Given the description of an element on the screen output the (x, y) to click on. 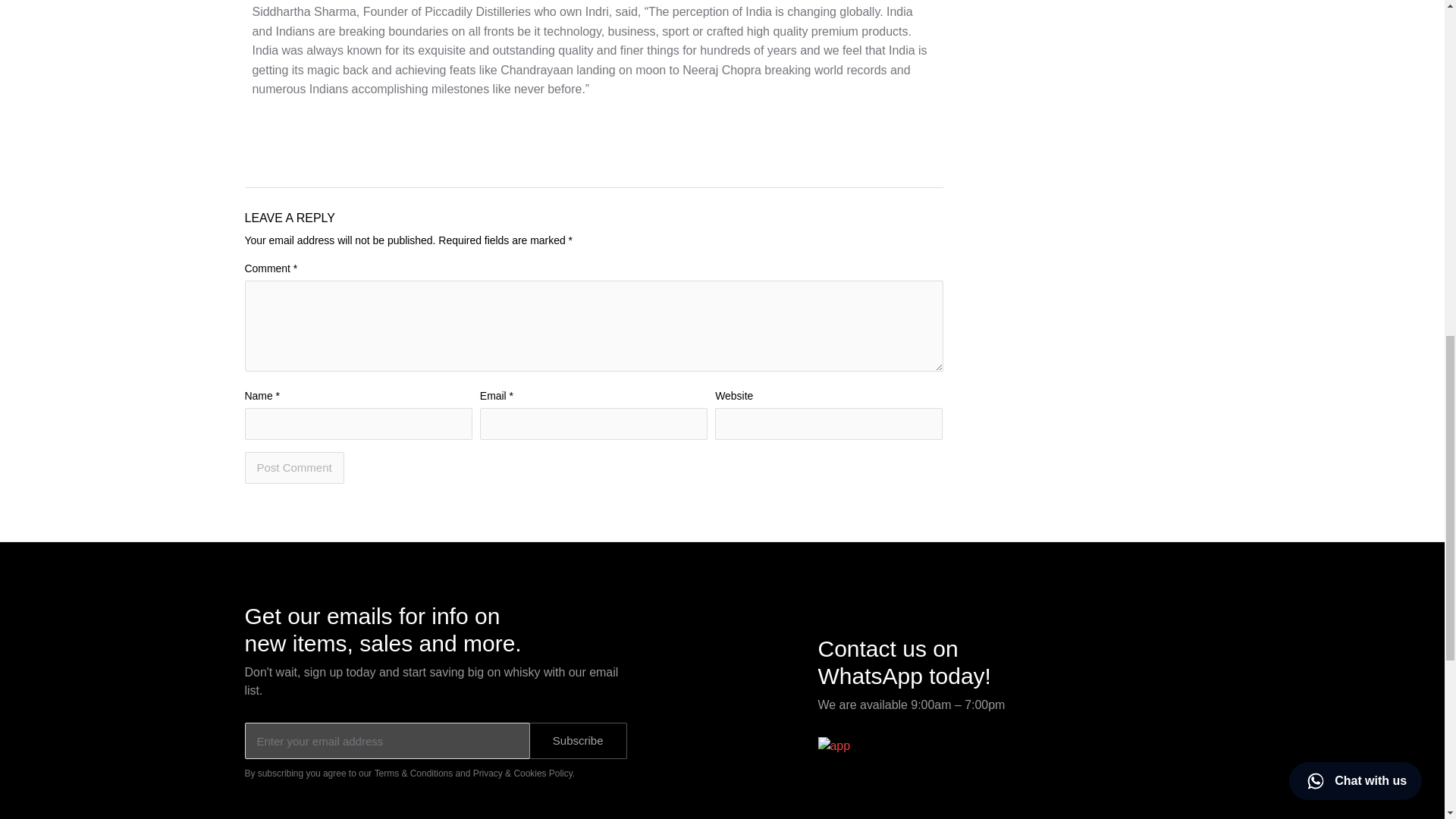
Post Comment (293, 468)
Subscribe (578, 740)
Post Comment (293, 468)
